Given the description of an element on the screen output the (x, y) to click on. 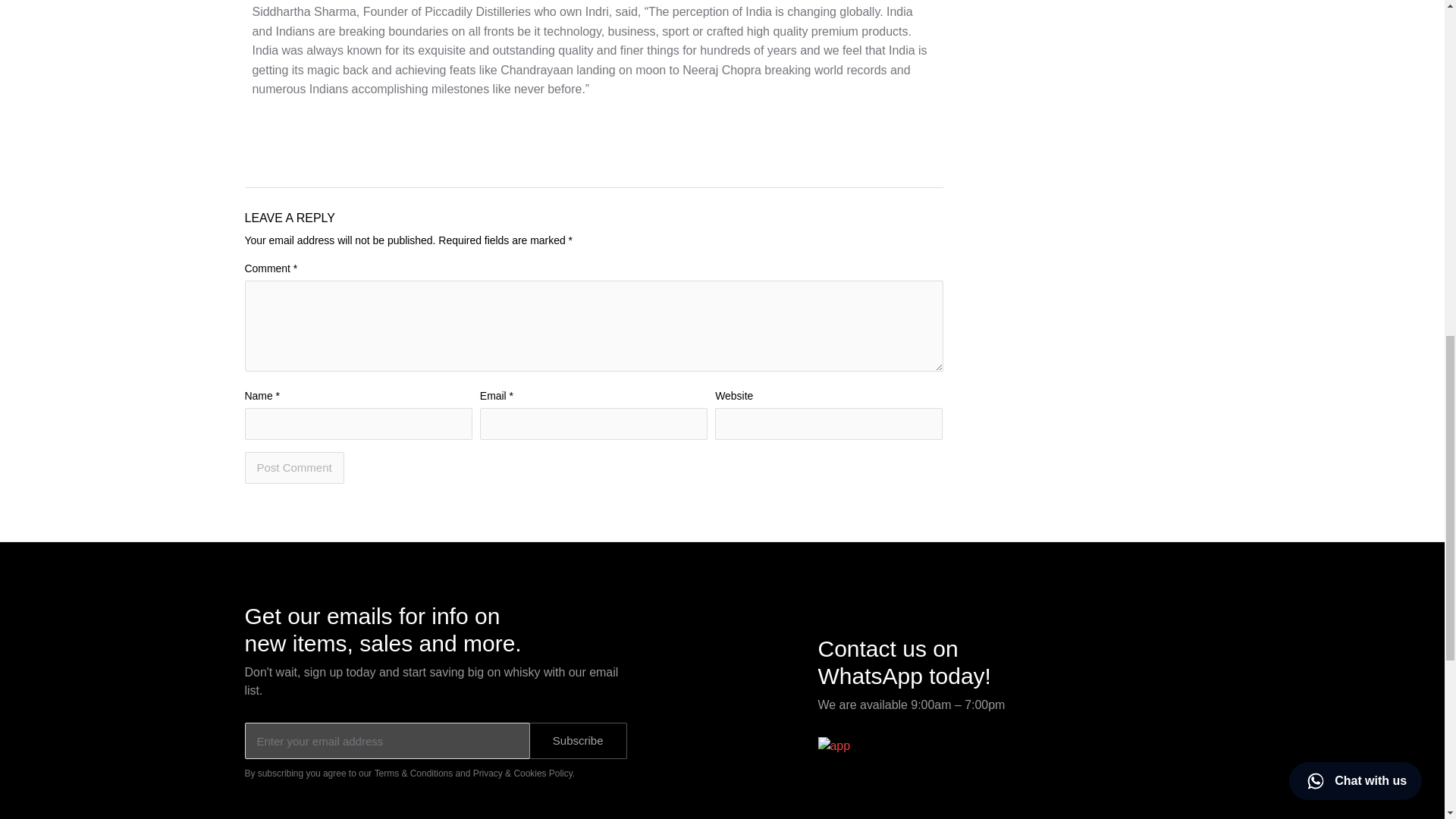
Post Comment (293, 468)
Subscribe (578, 740)
Post Comment (293, 468)
